Given the description of an element on the screen output the (x, y) to click on. 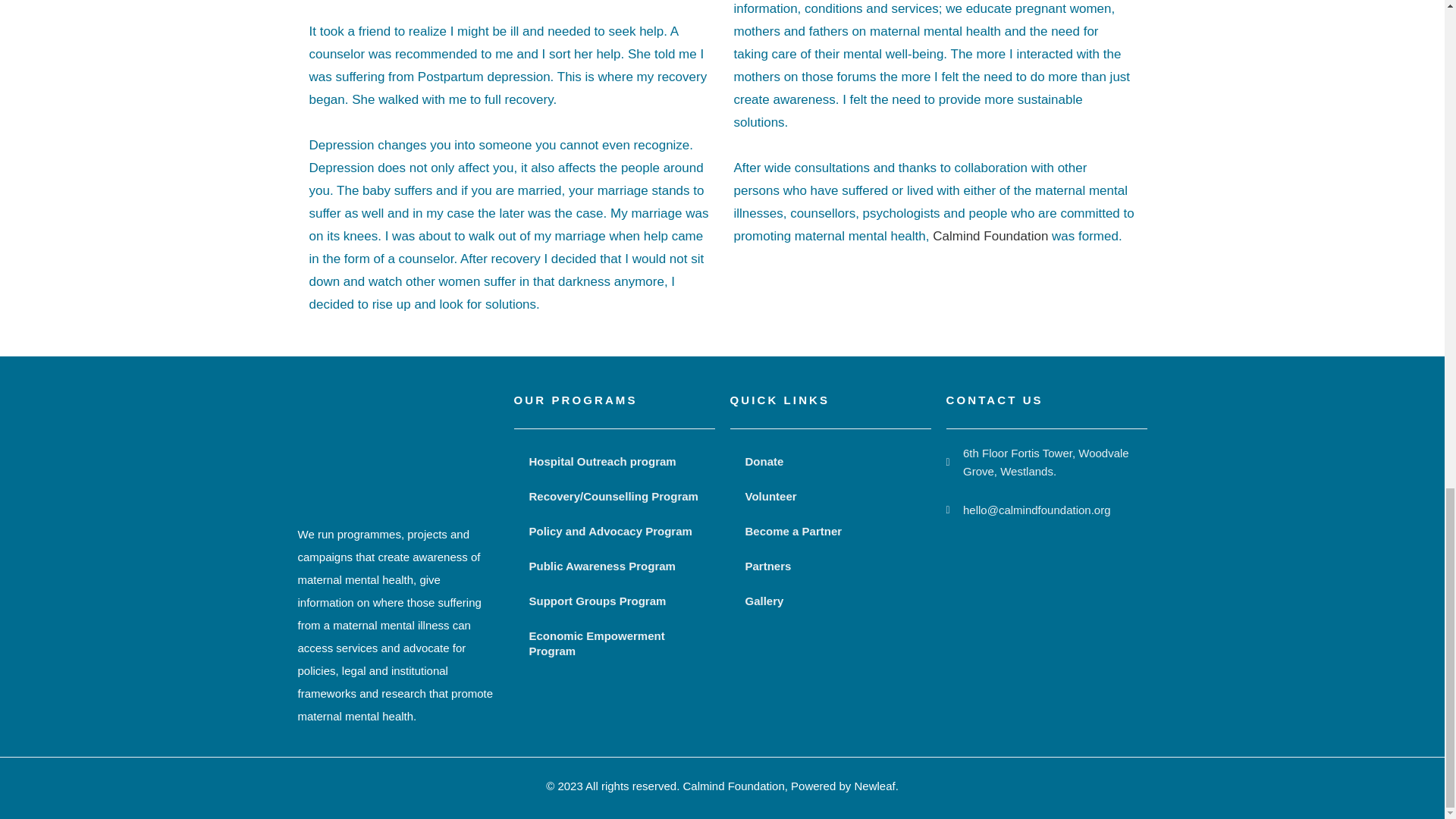
Support Groups Program (613, 601)
Public Awareness Program (613, 565)
 Calmind Foundation  (989, 236)
Hospital Outreach program (613, 461)
Calmind-Foundation-Logo-white (397, 450)
Policy and Advocacy Program (613, 531)
